Given the description of an element on the screen output the (x, y) to click on. 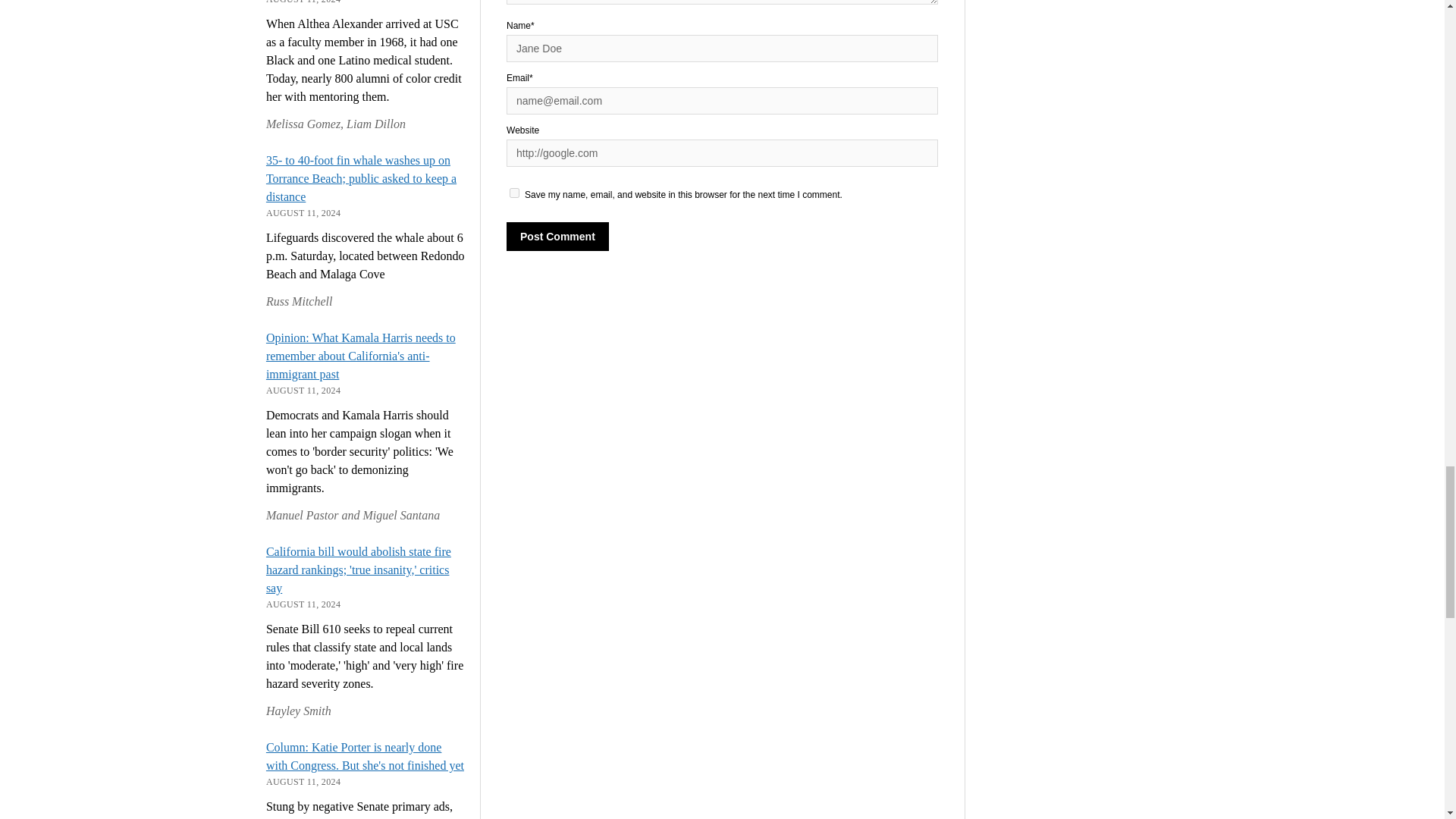
Post Comment (557, 235)
yes (514, 193)
